Given the description of an element on the screen output the (x, y) to click on. 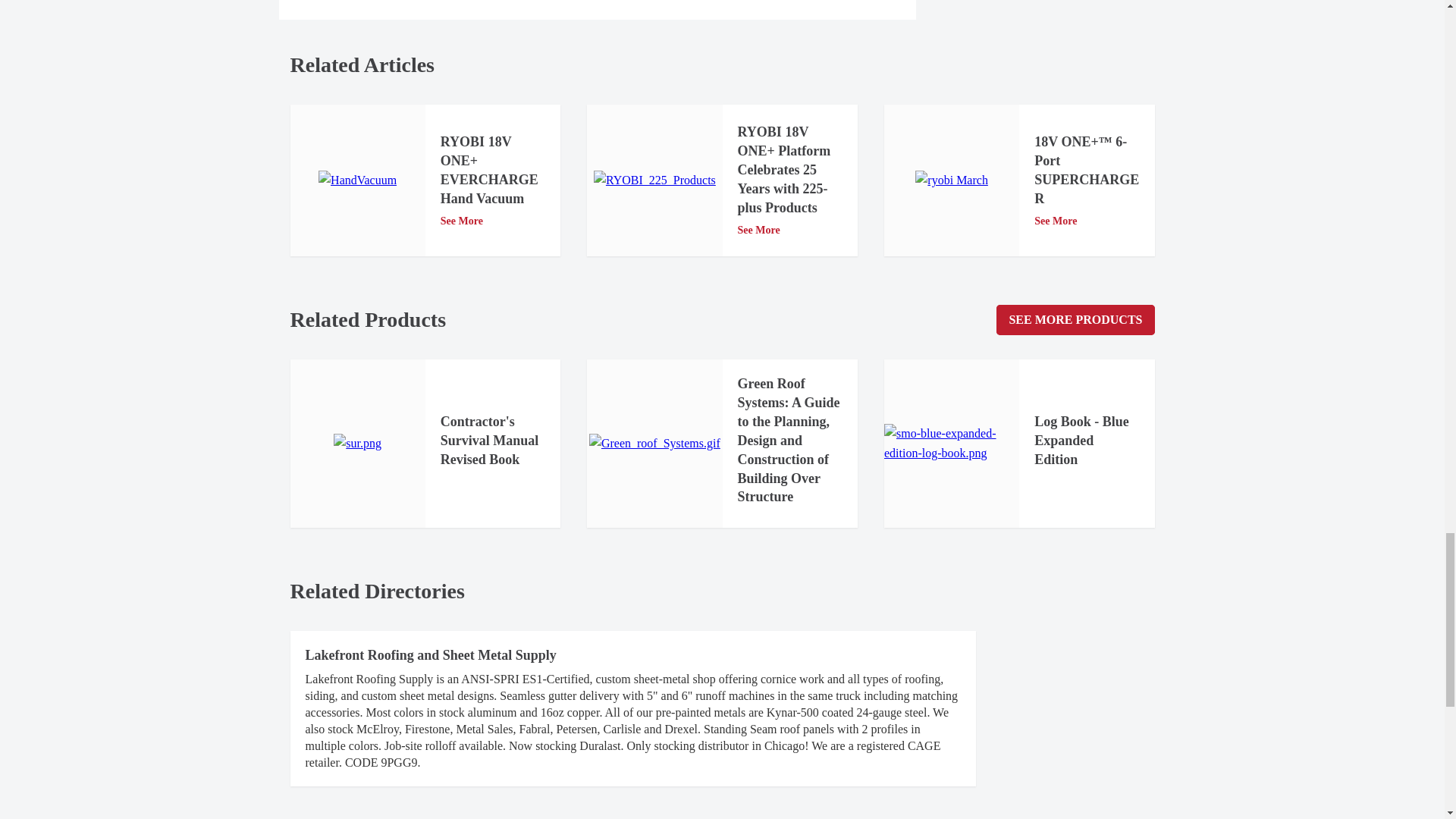
Interaction questions (1052, 7)
smo-blue-expanded-edition-log-book.png (951, 444)
sur.png (357, 443)
